Given the description of an element on the screen output the (x, y) to click on. 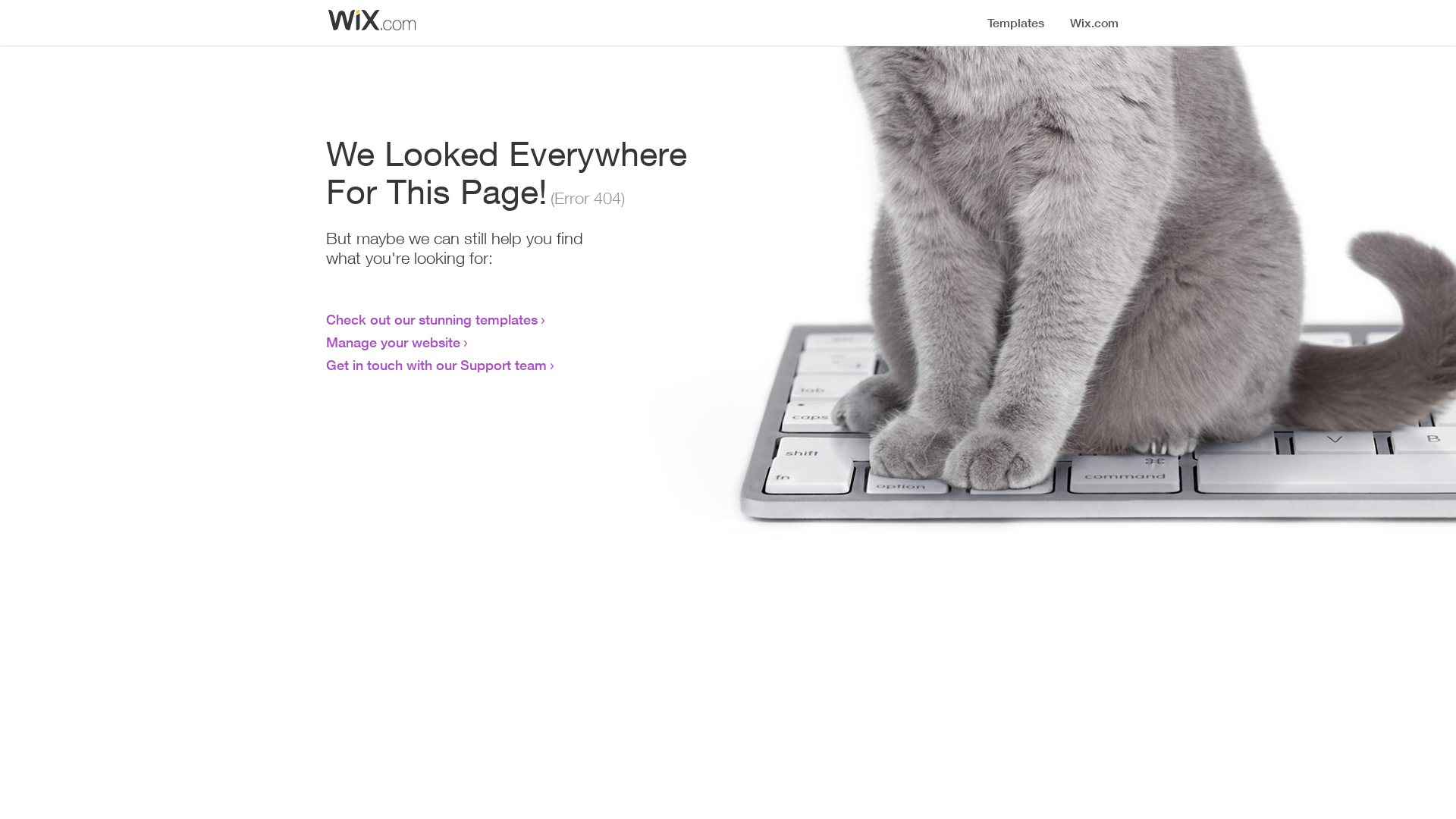
Check out our stunning templates Element type: text (431, 318)
Get in touch with our Support team Element type: text (436, 364)
Manage your website Element type: text (393, 341)
